Given the description of an element on the screen output the (x, y) to click on. 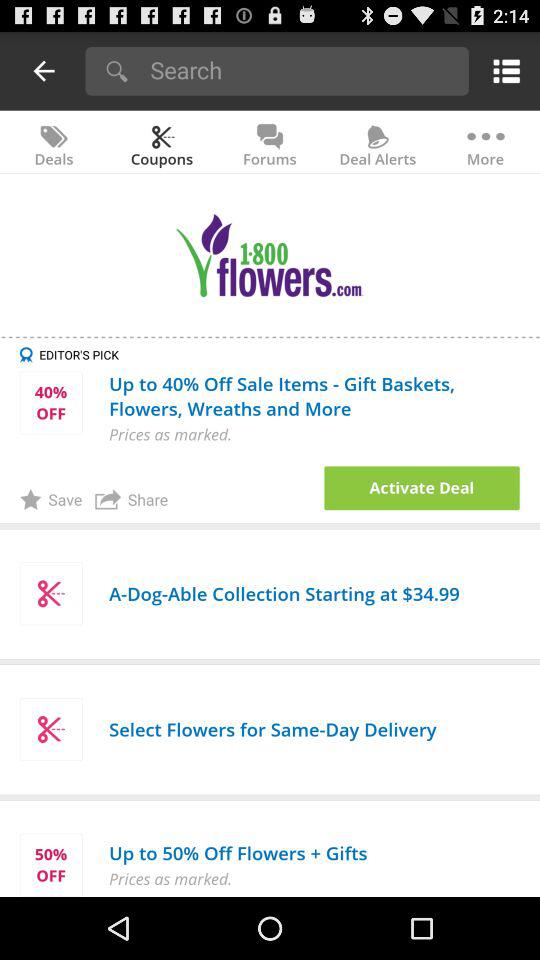
to search (302, 69)
